Given the description of an element on the screen output the (x, y) to click on. 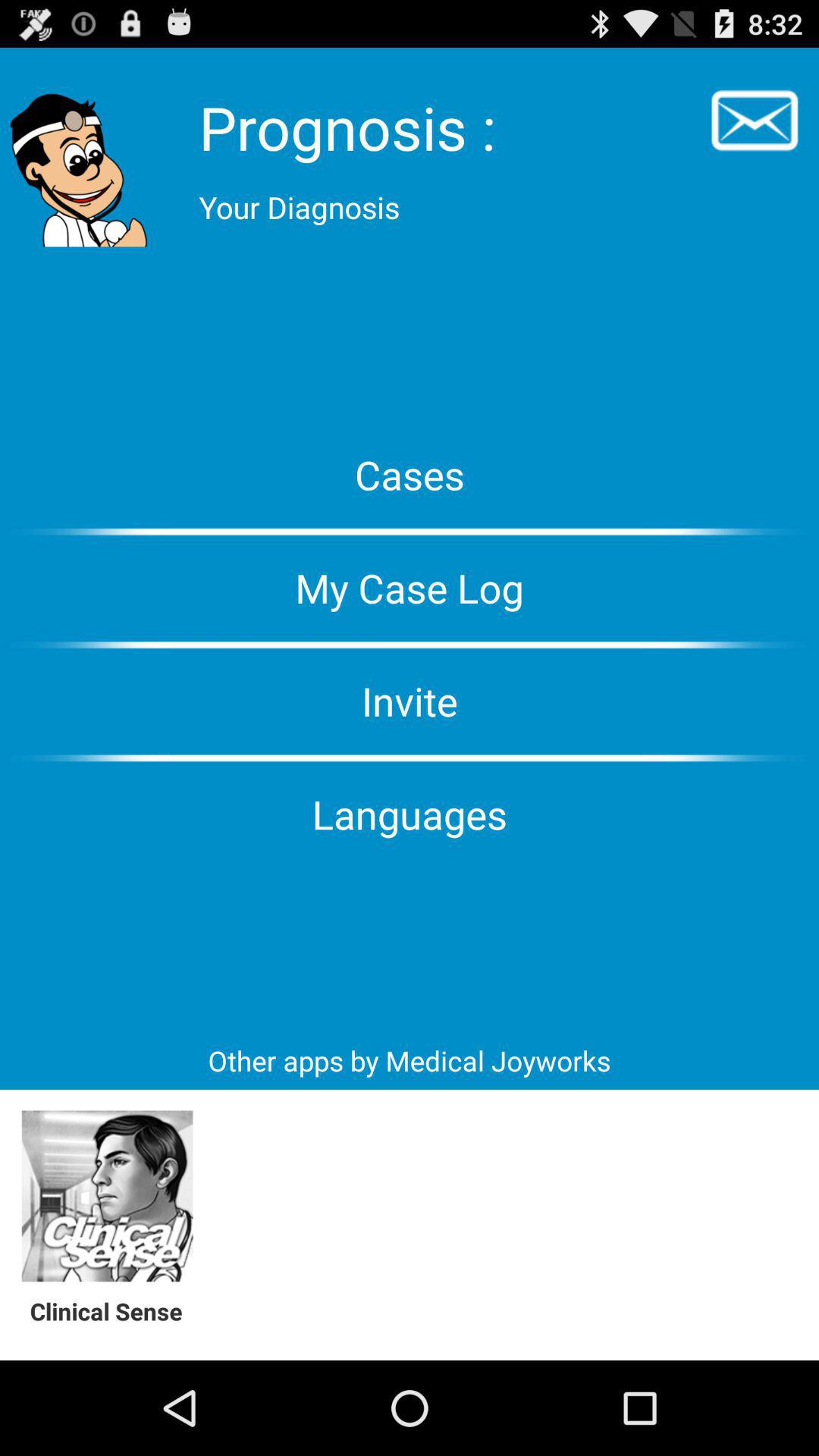
select email icon on the top right of the web page (754, 120)
select the text below the image (114, 1311)
